Given the description of an element on the screen output the (x, y) to click on. 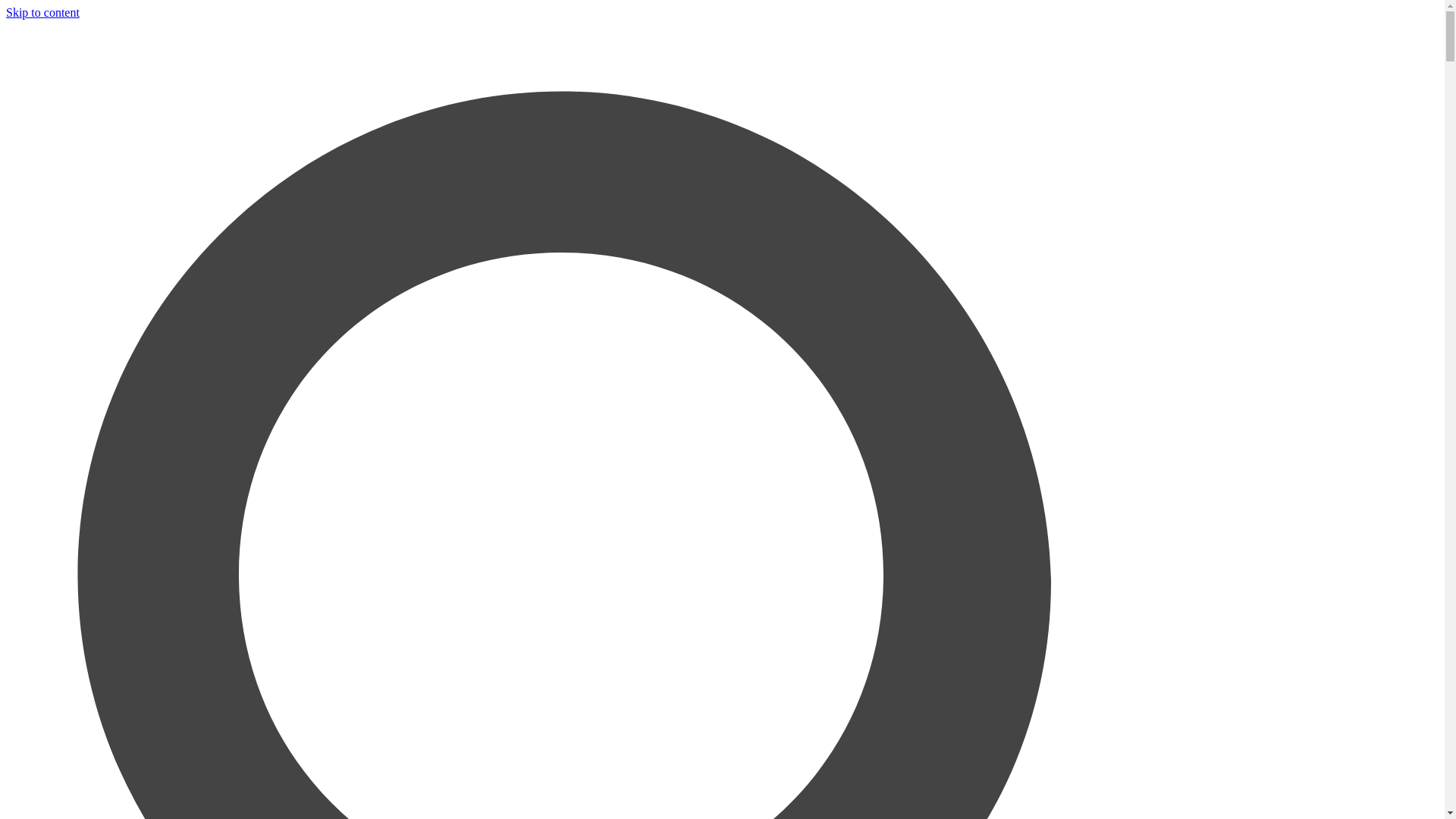
Skip to content Element type: text (42, 12)
